Given the description of an element on the screen output the (x, y) to click on. 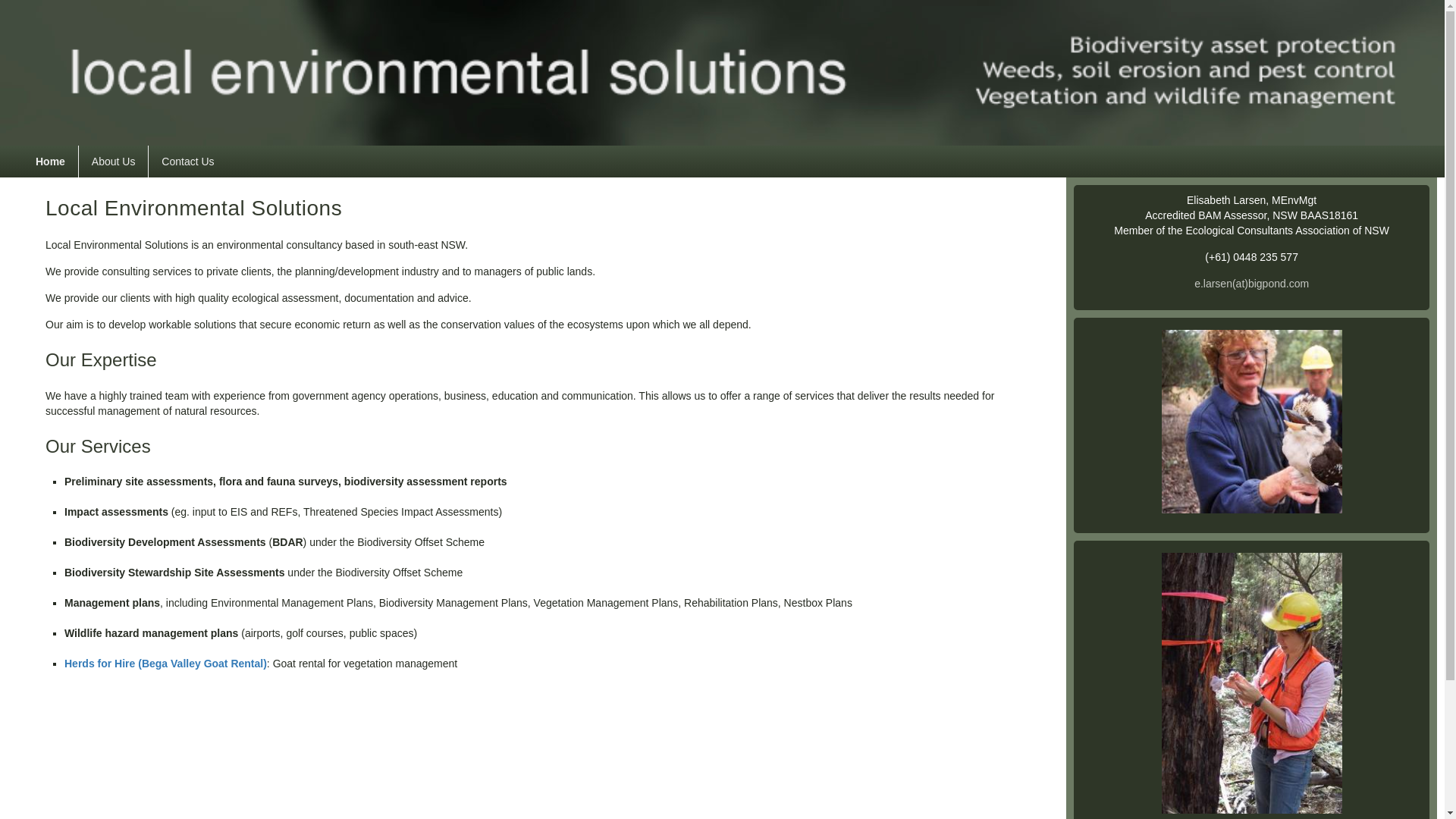
Home Element type: text (50, 161)
Contact Us Element type: text (187, 161)
About Us Element type: text (113, 161)
e.larsen(at)bigpond.com Element type: text (1251, 283)
Herds for Hire (Bega Valley Goat Rental) Element type: text (165, 663)
